Given the description of an element on the screen output the (x, y) to click on. 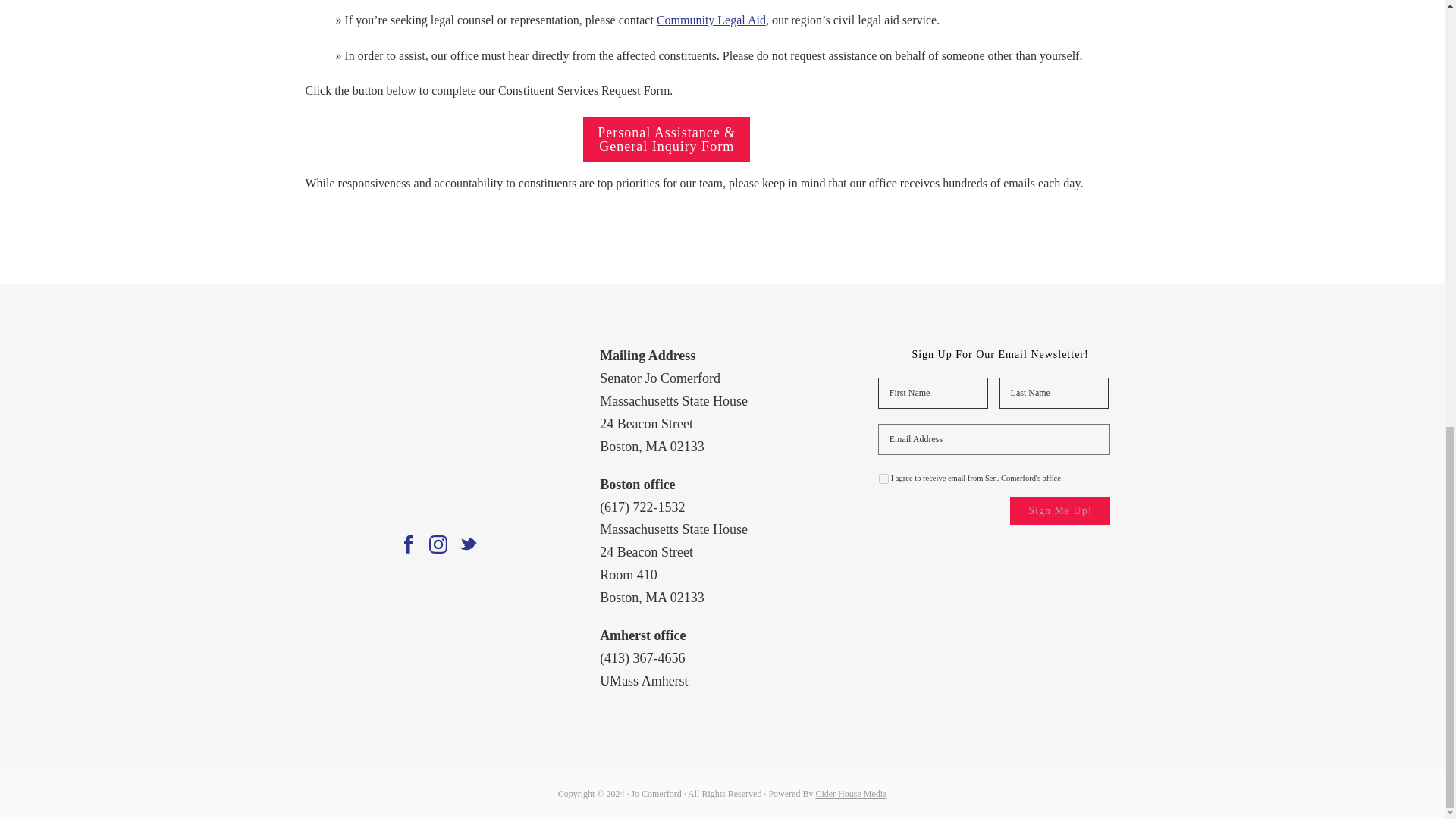
Follow Jo on instagram (437, 545)
Follow Jo on facebook (407, 545)
I agree to receive email from Sen. Comerford's office (883, 479)
Sign Me Up! (1059, 510)
Follow Jo on twitter (467, 545)
